Given the description of an element on the screen output the (x, y) to click on. 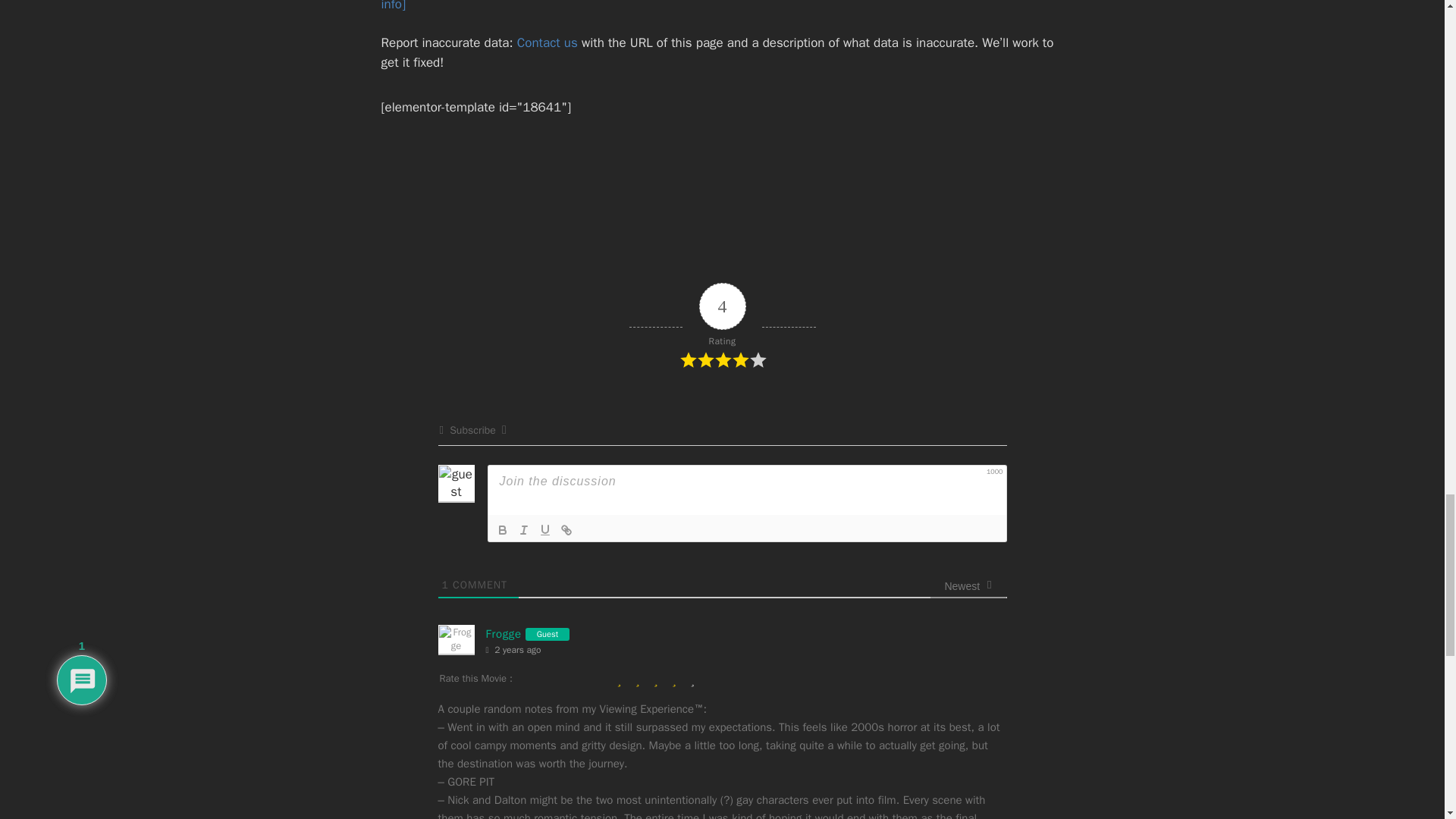
Link (565, 529)
Bold (502, 529)
Contact us (547, 42)
Italic (523, 529)
Underline (544, 529)
Rating (721, 326)
